Given the description of an element on the screen output the (x, y) to click on. 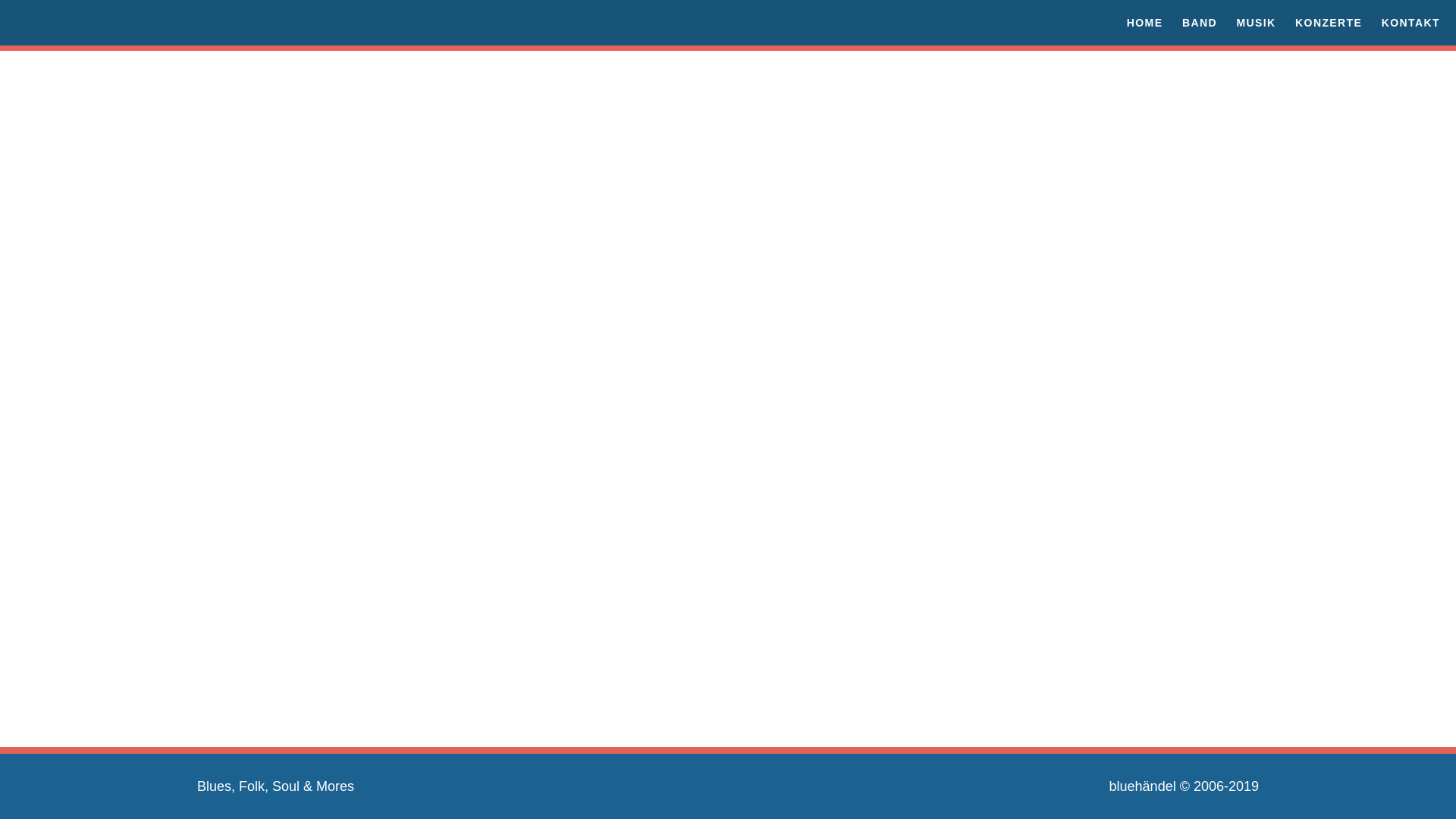
MUSIK Element type: text (1252, 22)
HOME Element type: text (1142, 22)
BAND Element type: text (1196, 22)
KONTAKT Element type: text (1408, 22)
KONZERTE Element type: text (1325, 22)
